Given the description of an element on the screen output the (x, y) to click on. 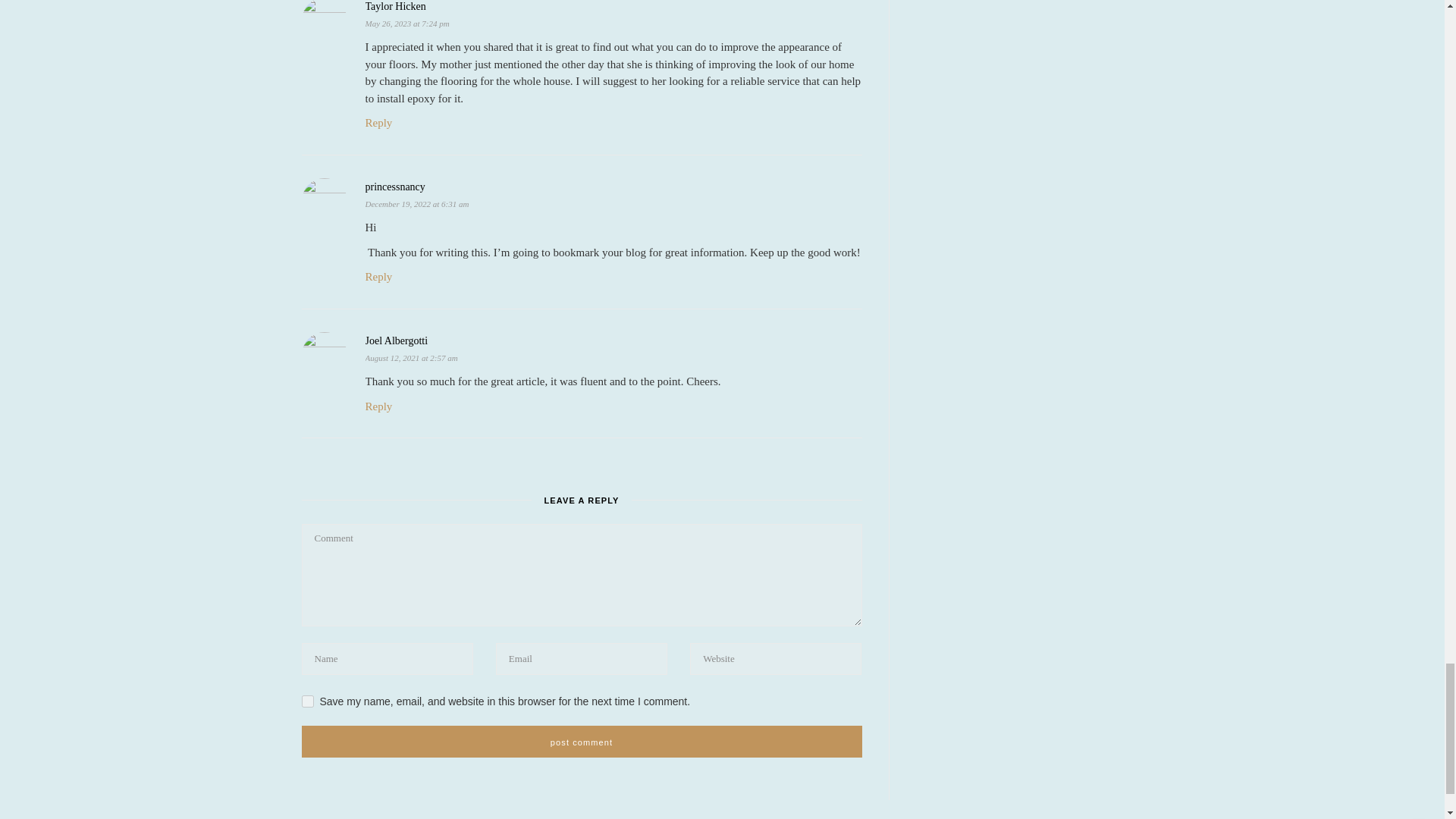
yes (307, 701)
Post Comment (581, 741)
